Given the description of an element on the screen output the (x, y) to click on. 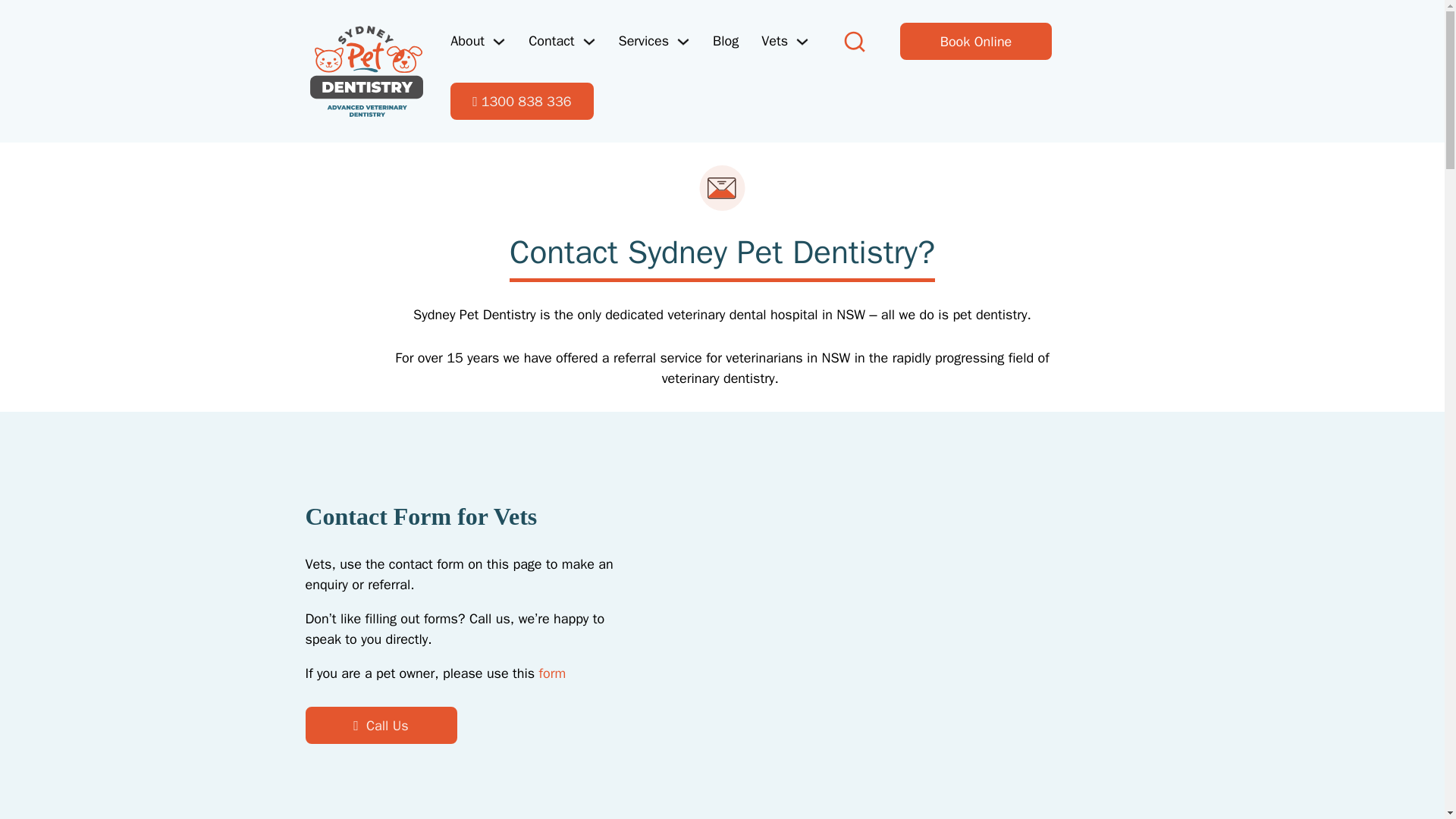
Blog (725, 41)
Book Online (975, 40)
